Given the description of an element on the screen output the (x, y) to click on. 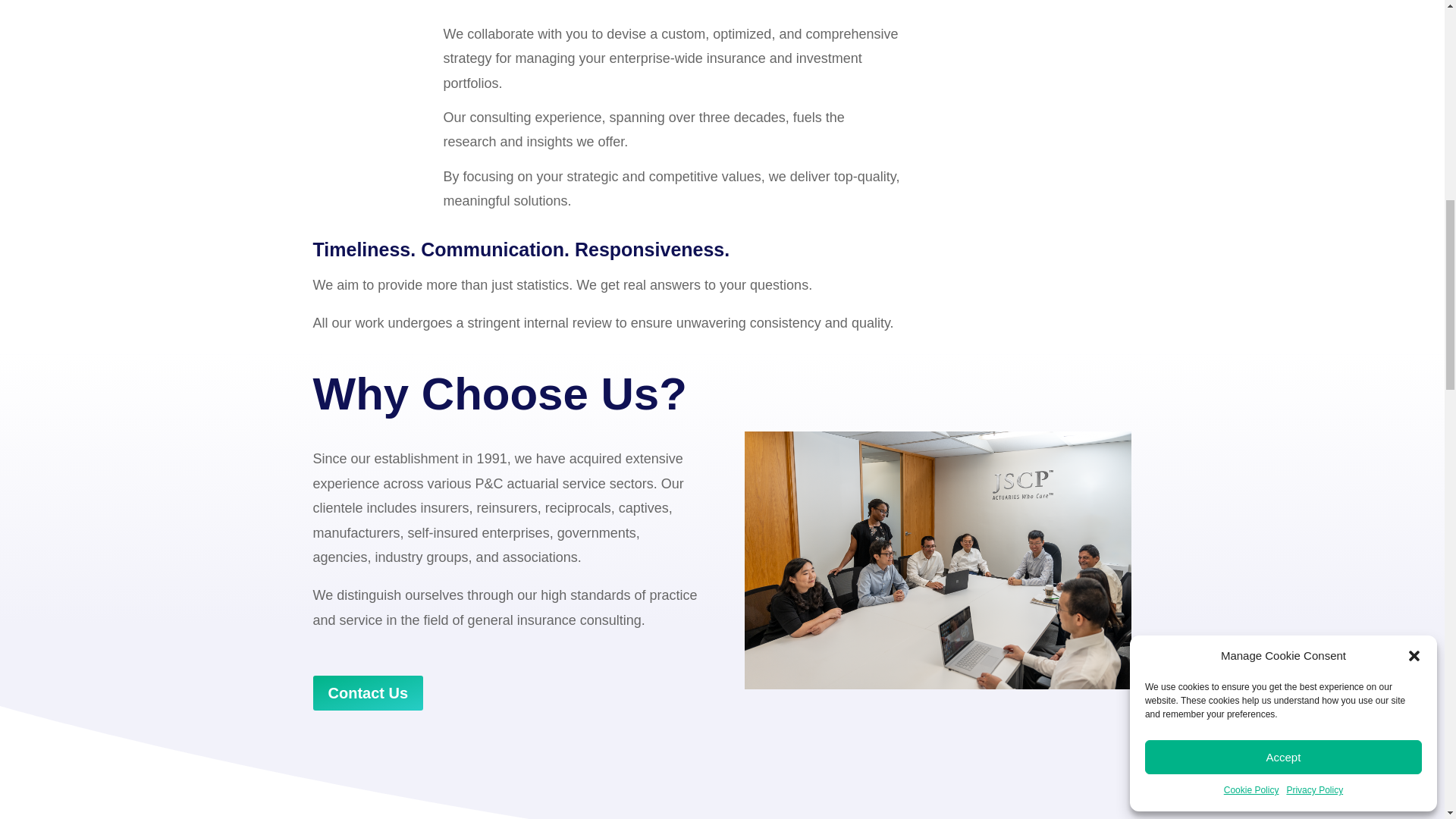
Contact Us (368, 692)
jscp-team-meeting (937, 560)
